Given the description of an element on the screen output the (x, y) to click on. 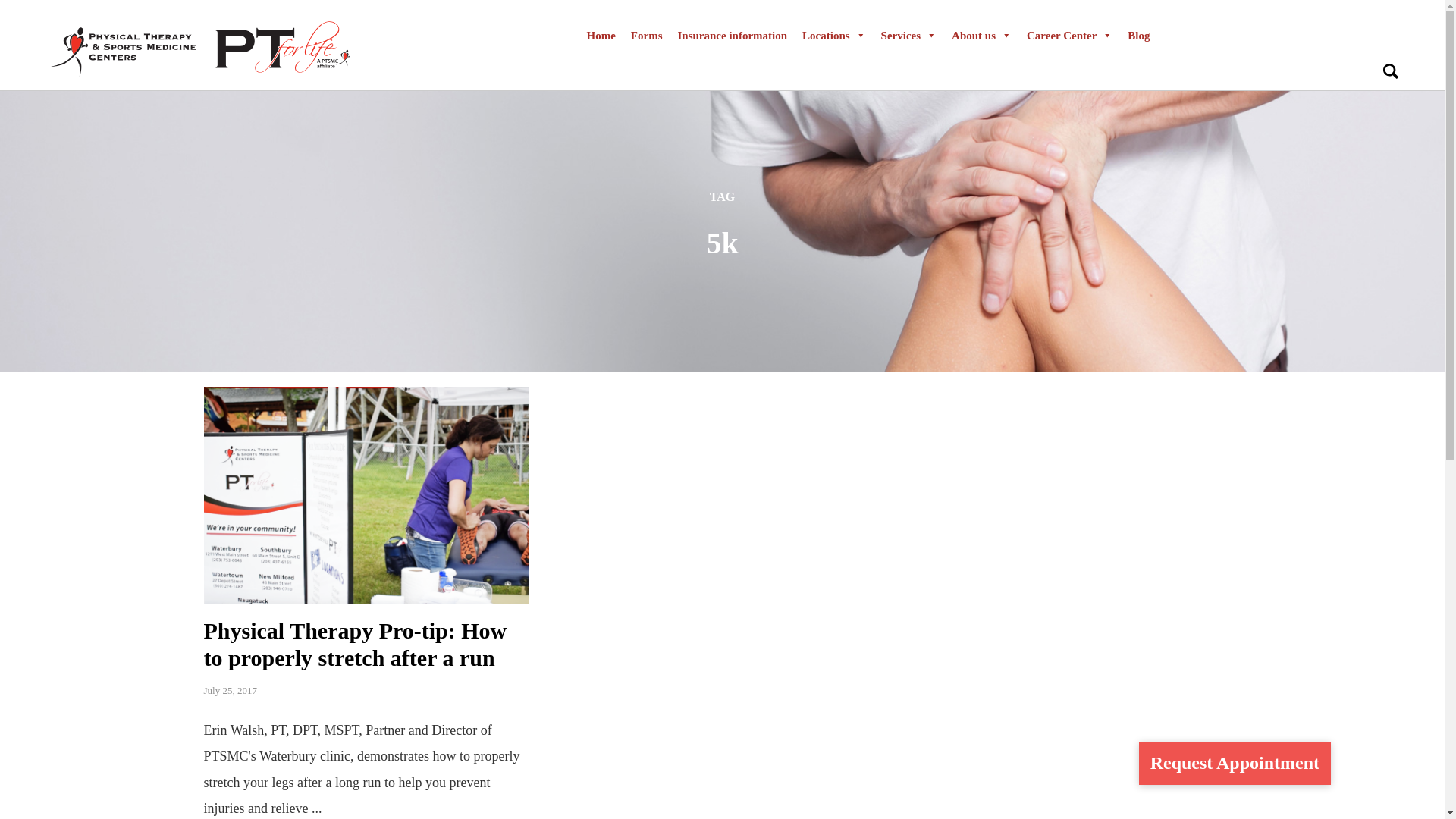
Home (601, 35)
Forms (646, 35)
PTSMC at Griskus Triathlon (365, 494)
Insurance information (731, 35)
Locations (833, 35)
